Given the description of an element on the screen output the (x, y) to click on. 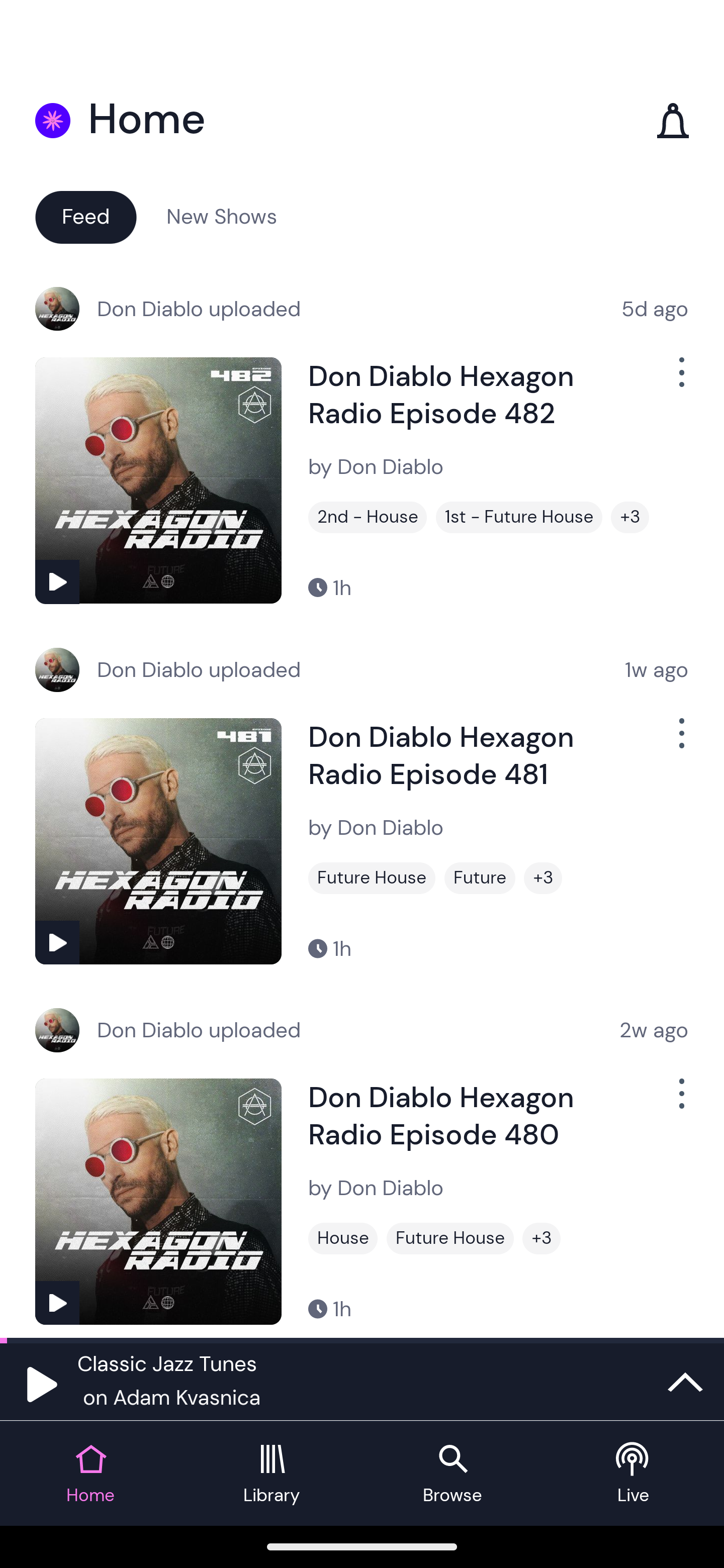
Feed (85, 216)
New Shows (221, 216)
Show Options Menu Button (679, 379)
2nd - House (367, 517)
1st - Future House (518, 517)
Show Options Menu Button (679, 740)
Future House (371, 877)
Future (479, 877)
Show Options Menu Button (679, 1101)
House (342, 1238)
Future House (450, 1238)
Home tab Home (90, 1473)
Library tab Library (271, 1473)
Browse tab Browse (452, 1473)
Live tab Live (633, 1473)
